Given the description of an element on the screen output the (x, y) to click on. 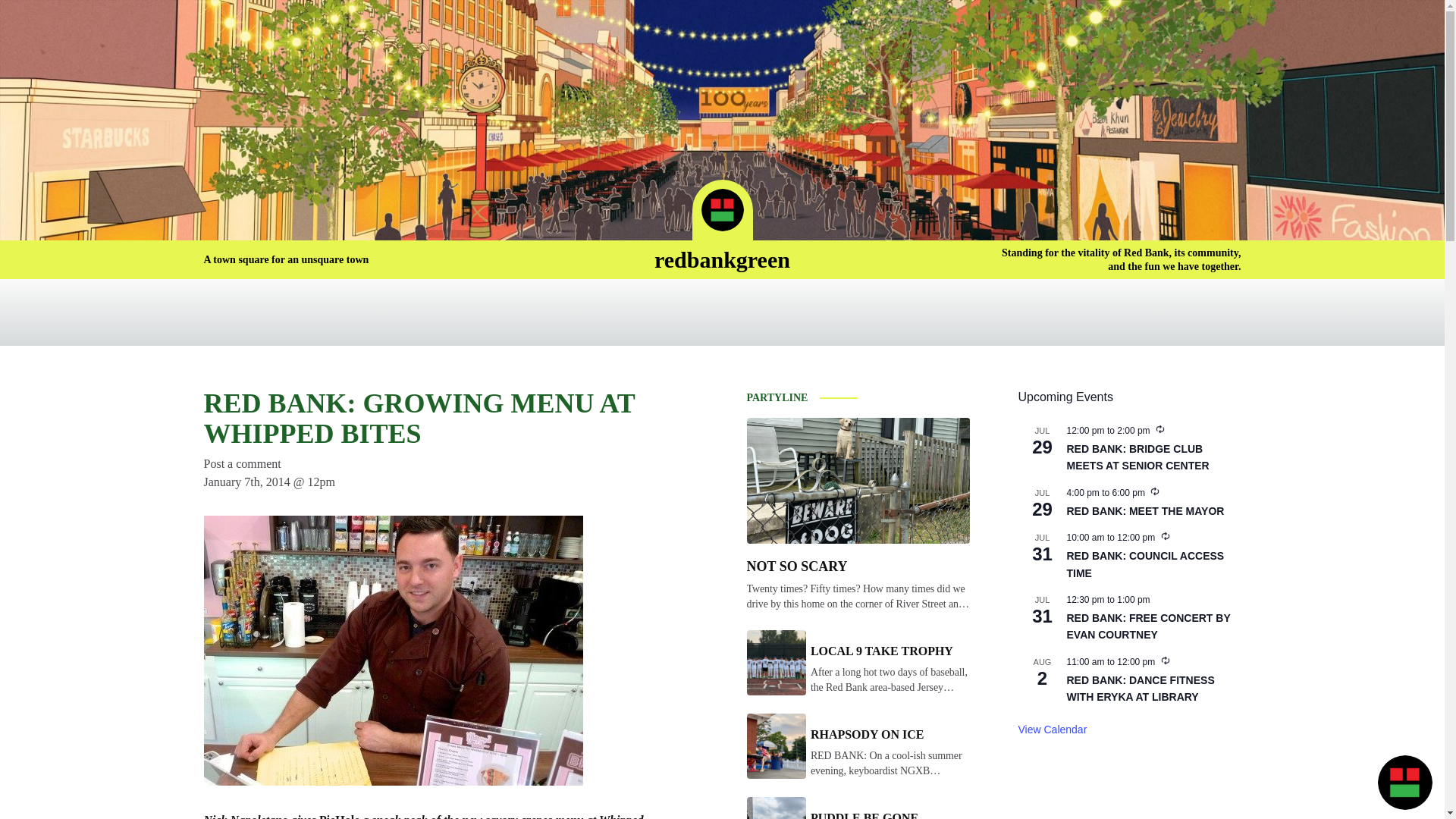
Post a comment (242, 463)
RED BANK: MEET THE MAYOR (1144, 511)
RED BANK: BRIDGE CLUB MEETS AT SENIOR CENTER (1136, 458)
Recurring (1160, 429)
RED BANK: DANCE FITNESS WITH ERYKA AT LIBRARY (1139, 689)
Recurring (1165, 660)
View more events. (1051, 729)
RED BANK: COUNCIL ACCESS TIME (1144, 564)
Recurring (1154, 491)
Recurring (1165, 535)
RED BANK: FREE CONCERT BY EVAN COURTNEY (1147, 626)
